Given the description of an element on the screen output the (x, y) to click on. 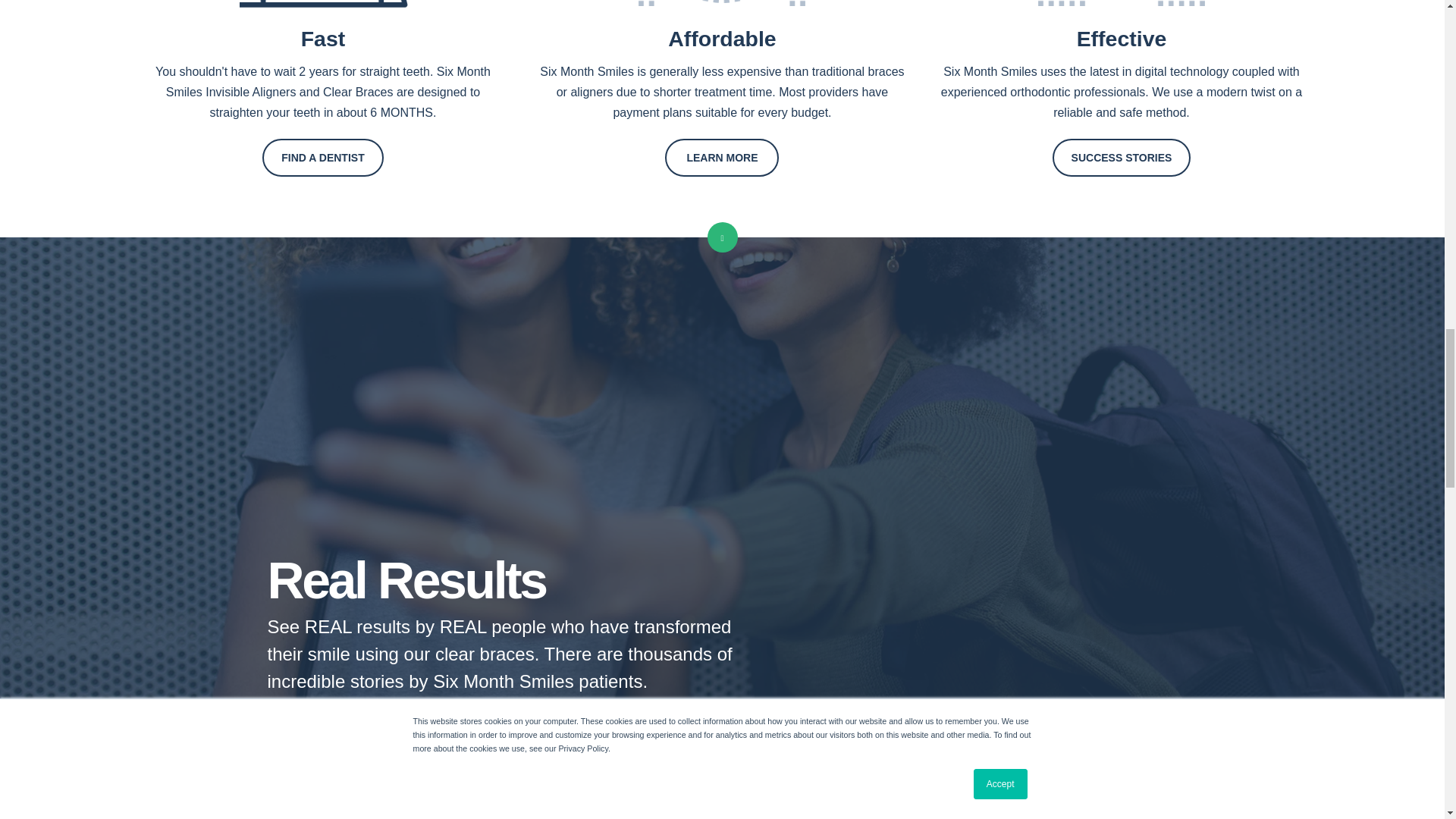
FIND A DENTIST (322, 157)
READ PATIENT STORIES (348, 721)
SUCCESS STORIES (1121, 157)
LEARN MORE (721, 157)
